Given the description of an element on the screen output the (x, y) to click on. 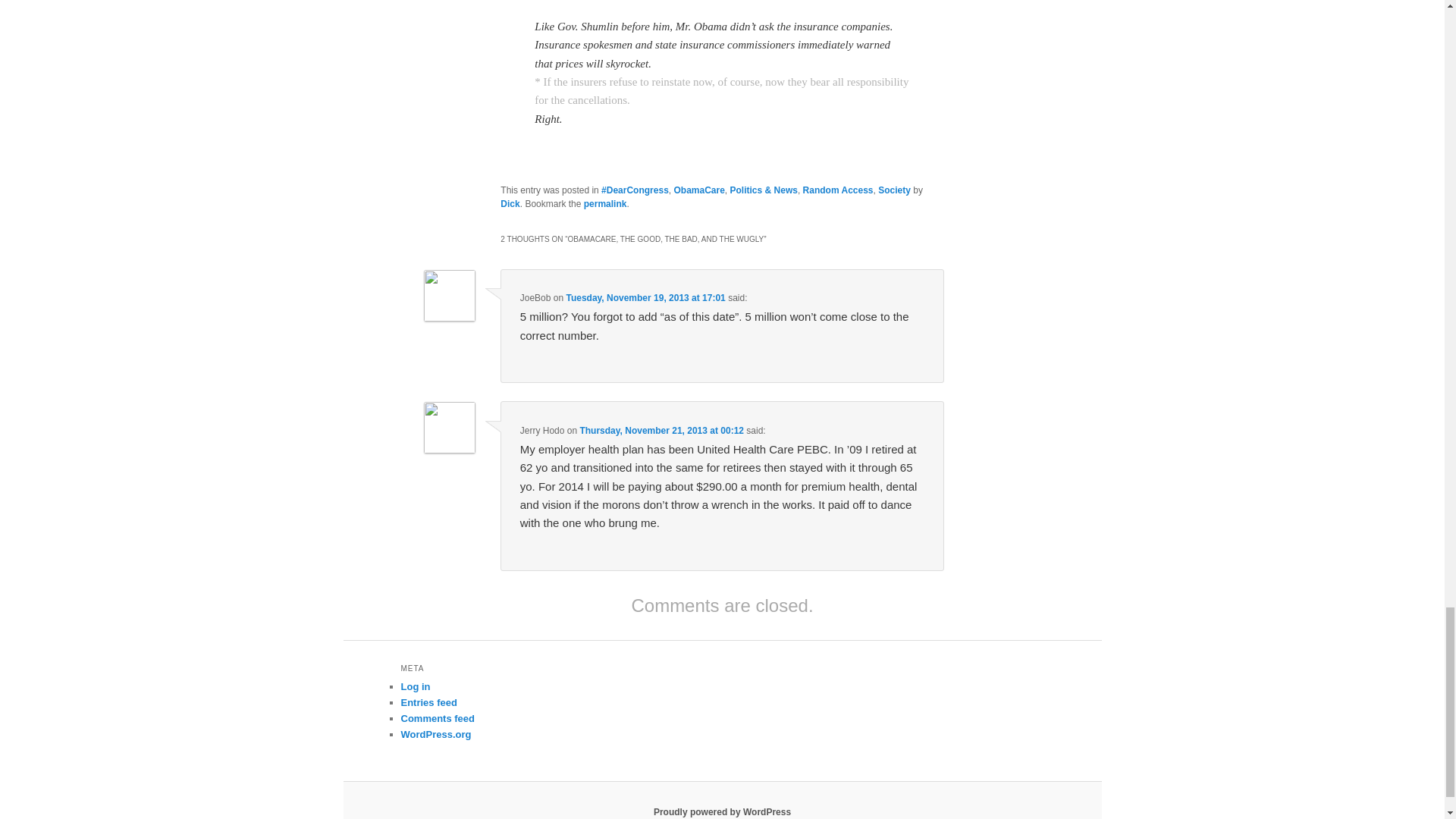
Dick (509, 204)
ObamaCare (697, 190)
Entries feed (428, 702)
Semantic Personal Publishing Platform (721, 811)
Log in (414, 686)
Thursday, November 21, 2013 at 00:12 (661, 430)
Random Access (838, 190)
Proudly powered by WordPress (721, 811)
Tuesday, November 19, 2013 at 17:01 (645, 297)
Society (894, 190)
